Given the description of an element on the screen output the (x, y) to click on. 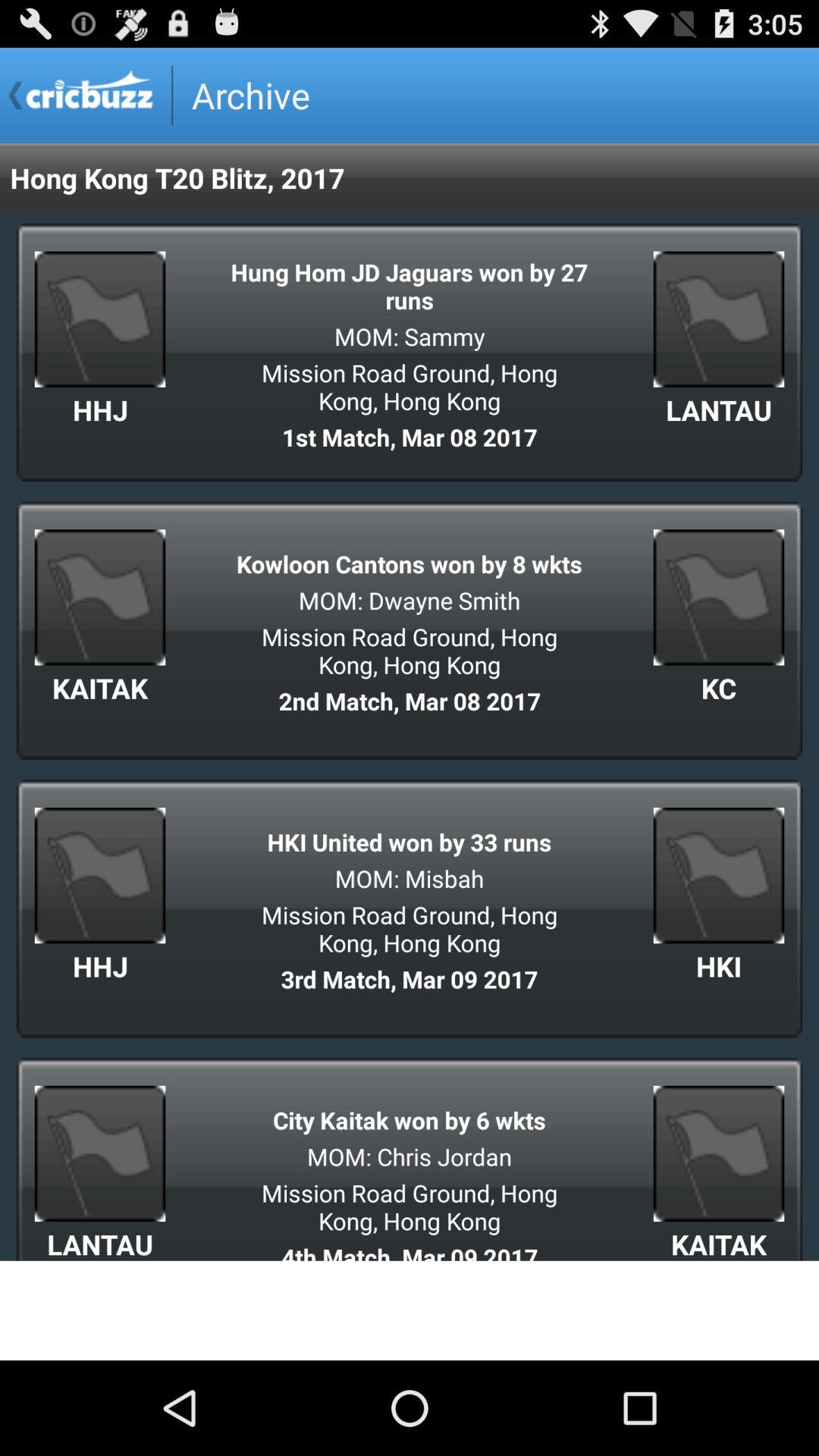
tap app to the right of the mission road ground icon (718, 687)
